Given the description of an element on the screen output the (x, y) to click on. 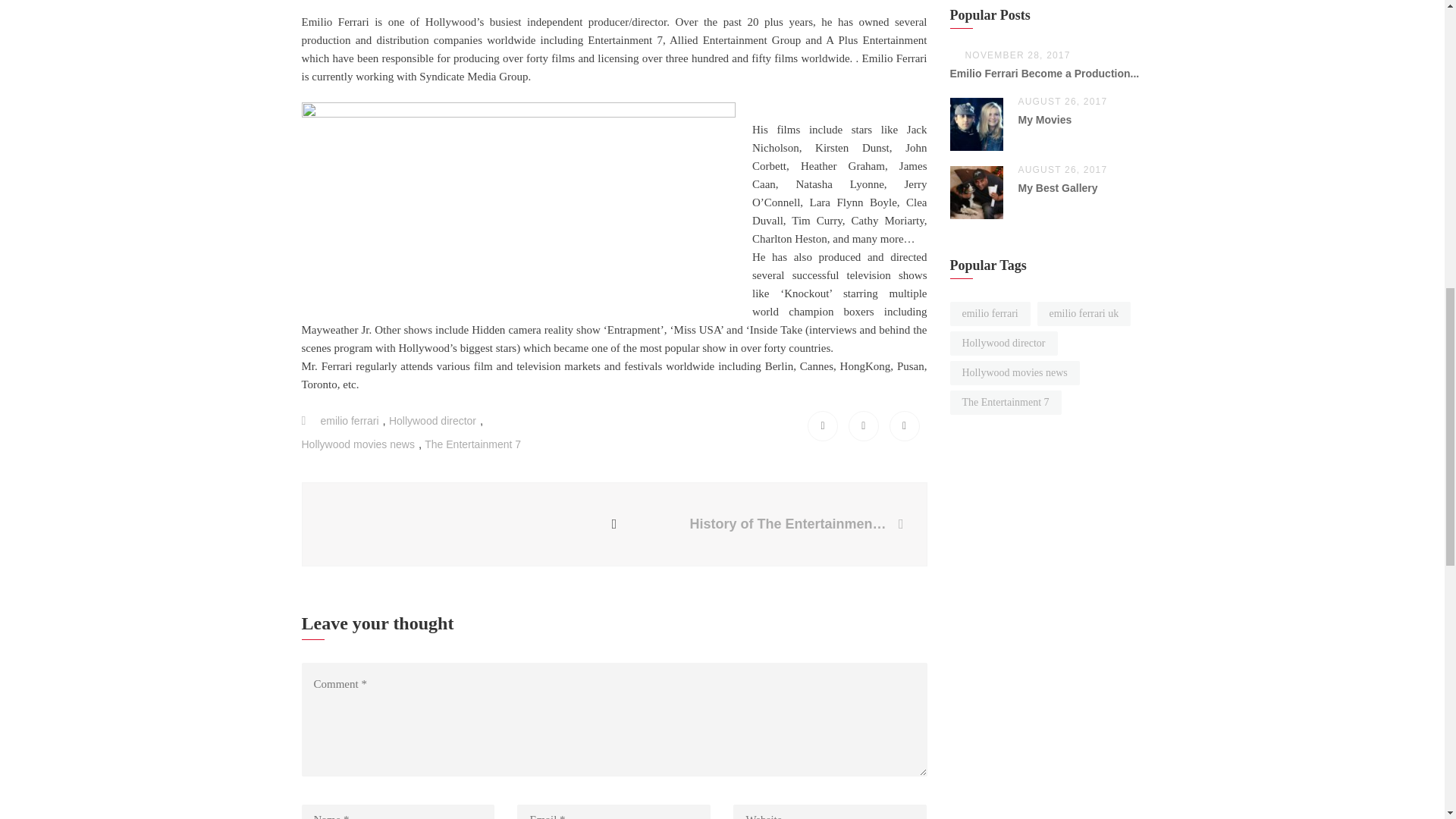
emilio ferrari (349, 420)
The Entertainment 7 (473, 443)
My Best  Gallery (1057, 187)
My Movies (1044, 119)
Hollywood movies news (357, 443)
Hollywood director (432, 420)
Emilio Ferrari Become a Production Manager (1043, 73)
History of The Entertainment 7 (792, 524)
